Given the description of an element on the screen output the (x, y) to click on. 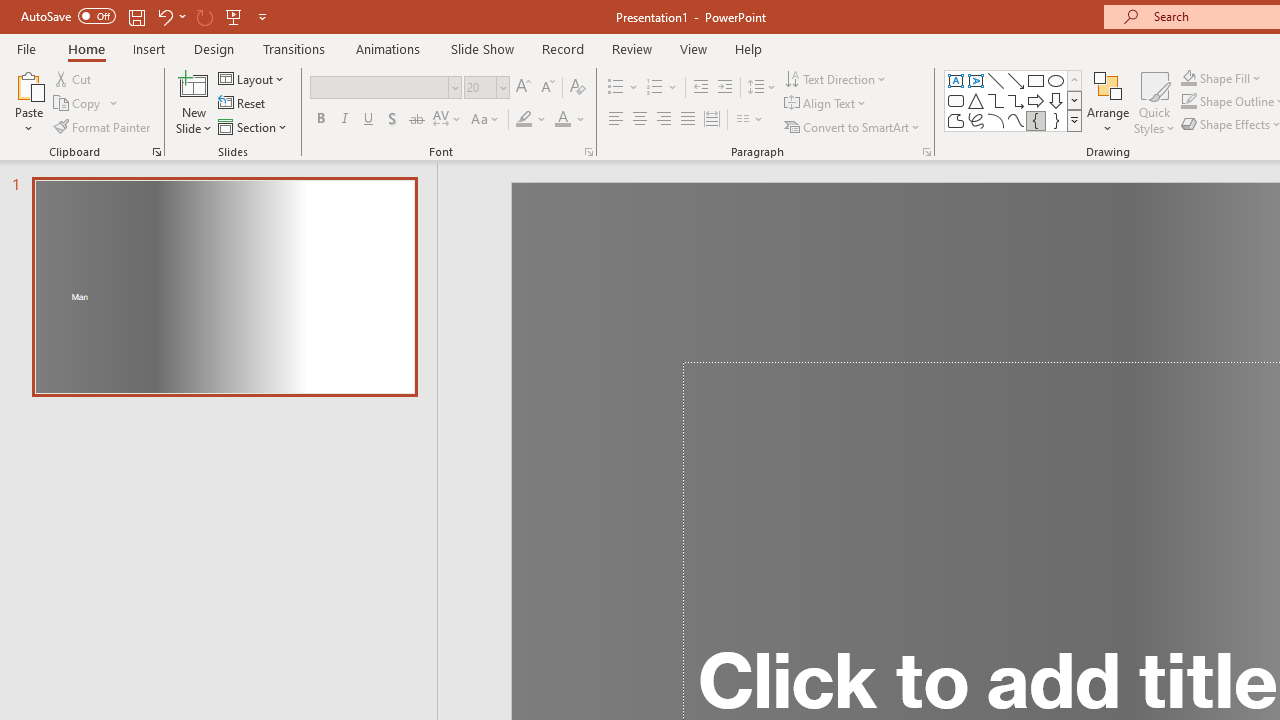
Row up (1074, 79)
AutomationID: ShapesInsertGallery (1014, 100)
Align Left (616, 119)
Decrease Indent (700, 87)
Clear Formatting (577, 87)
Center (639, 119)
Copy (78, 103)
Line (995, 80)
Rectangle: Rounded Corners (955, 100)
